Given the description of an element on the screen output the (x, y) to click on. 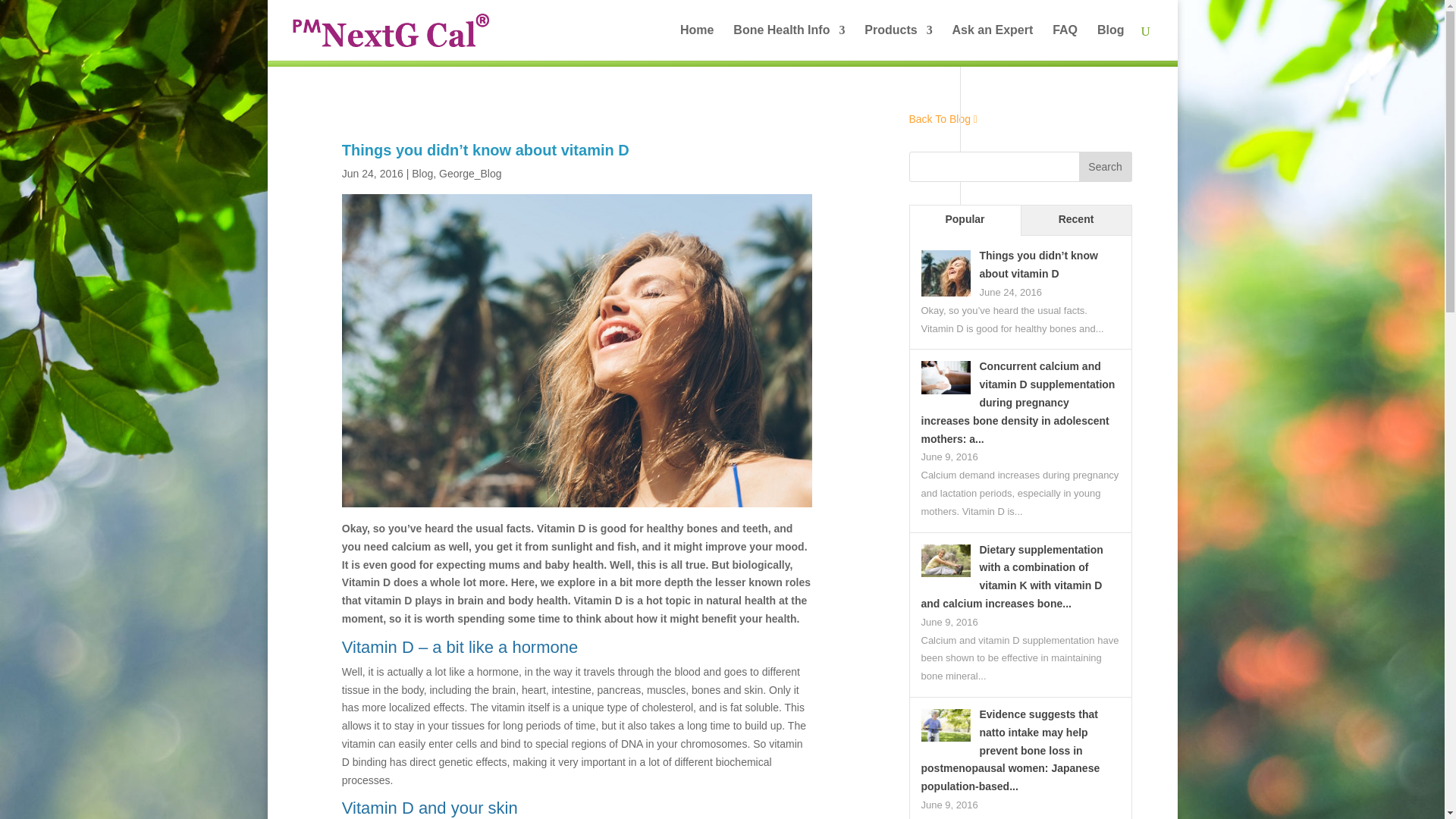
Products (897, 42)
Ask an Expert (992, 42)
Home (696, 42)
Blog (422, 173)
Search (1104, 166)
Back To Blog (940, 119)
Recent (1075, 220)
Search (1104, 166)
Popular (965, 220)
Bone Health Info (788, 42)
